Given the description of an element on the screen output the (x, y) to click on. 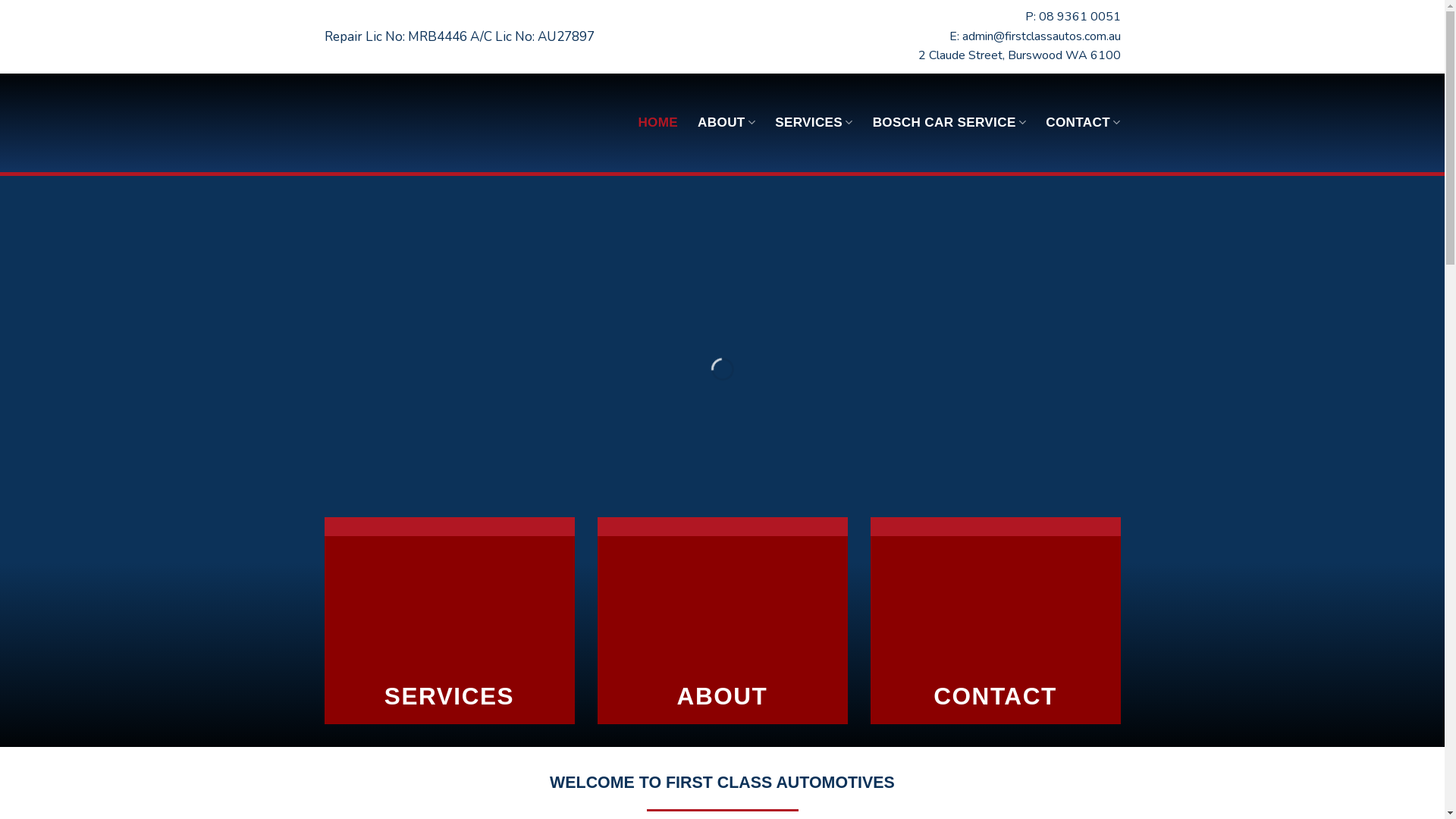
CONTACT Element type: text (995, 696)
SERVICES Element type: text (814, 122)
ABOUT Element type: text (726, 122)
SERVICES Element type: text (449, 696)
CONTACT Element type: text (1082, 122)
HOME Element type: text (657, 122)
P: 08 9361 0051 Element type: text (1072, 16)
E: admin@firstclassautos.com.au Element type: text (1034, 36)
First Class Automotives - First Class Automotives Element type: hover (438, 122)
BOSCH CAR SERVICE Element type: text (949, 122)
Skip to content Element type: text (0, 0)
ABOUT Element type: text (722, 696)
